Given the description of an element on the screen output the (x, y) to click on. 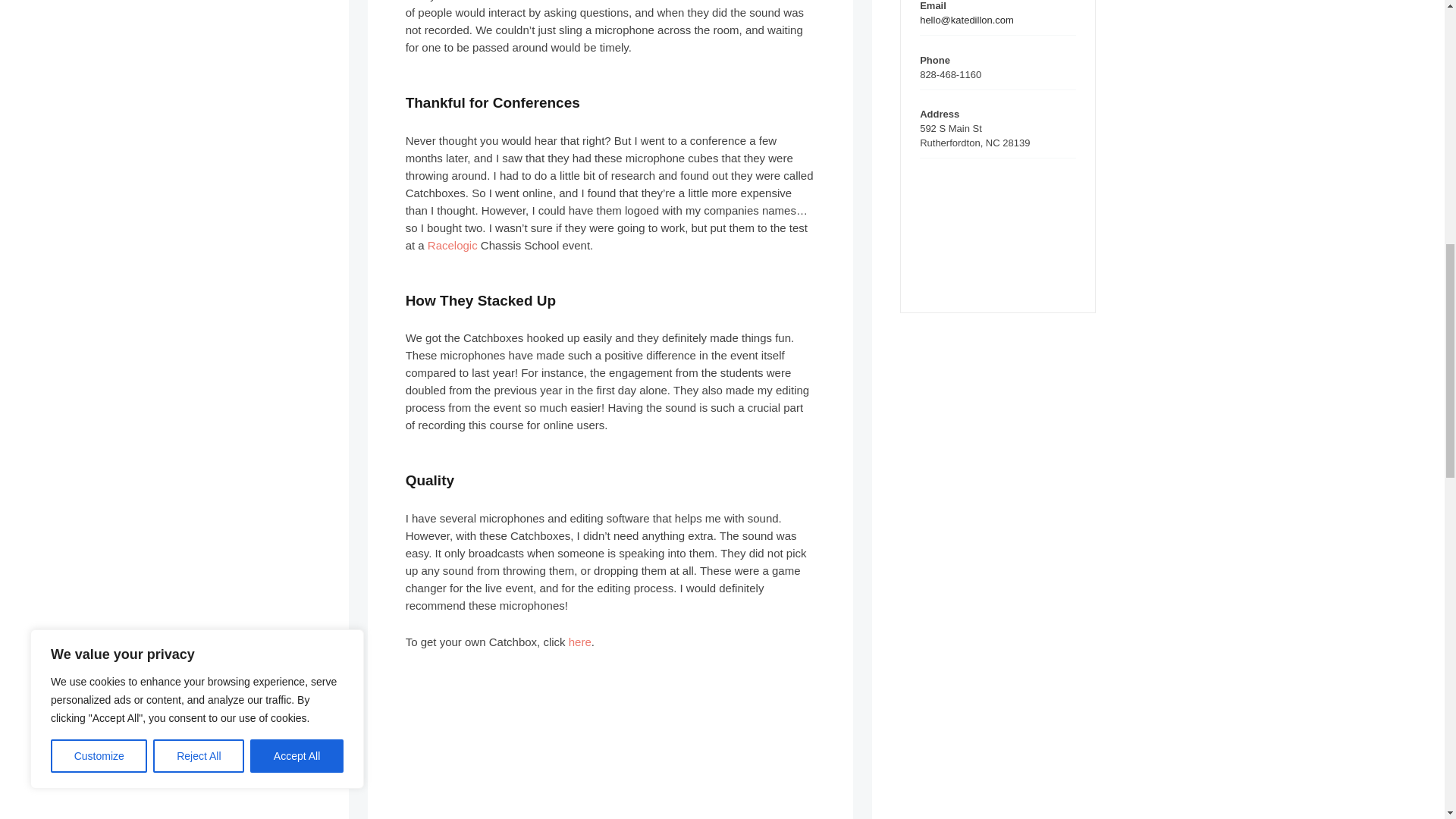
here (580, 641)
Racelogic (452, 245)
